Given the description of an element on the screen output the (x, y) to click on. 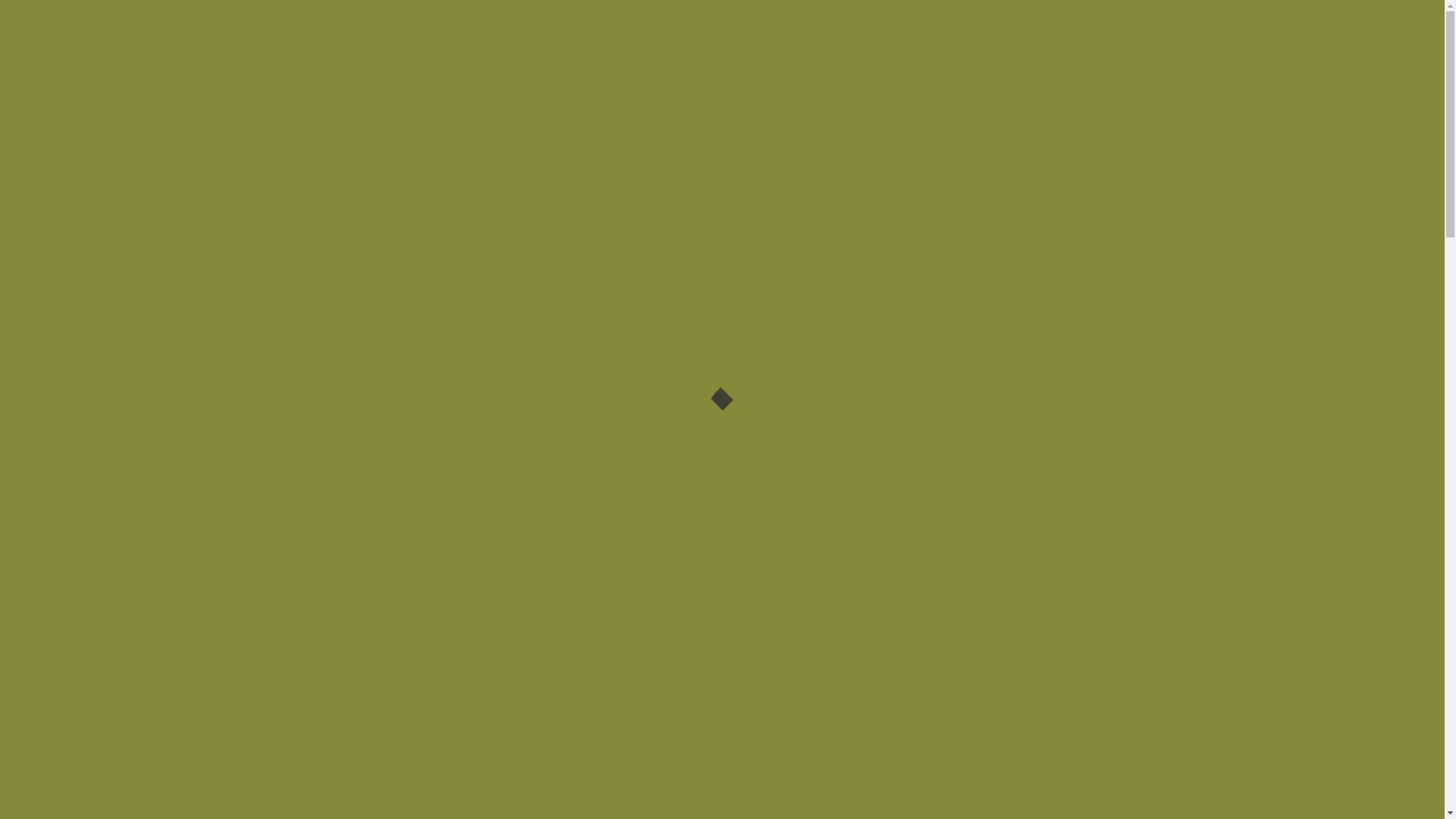
Skip to content Element type: text (42, 12)
wildwalks.com Element type: text (353, 346)
bushwalk.com Element type: text (257, 346)
